Given the description of an element on the screen output the (x, y) to click on. 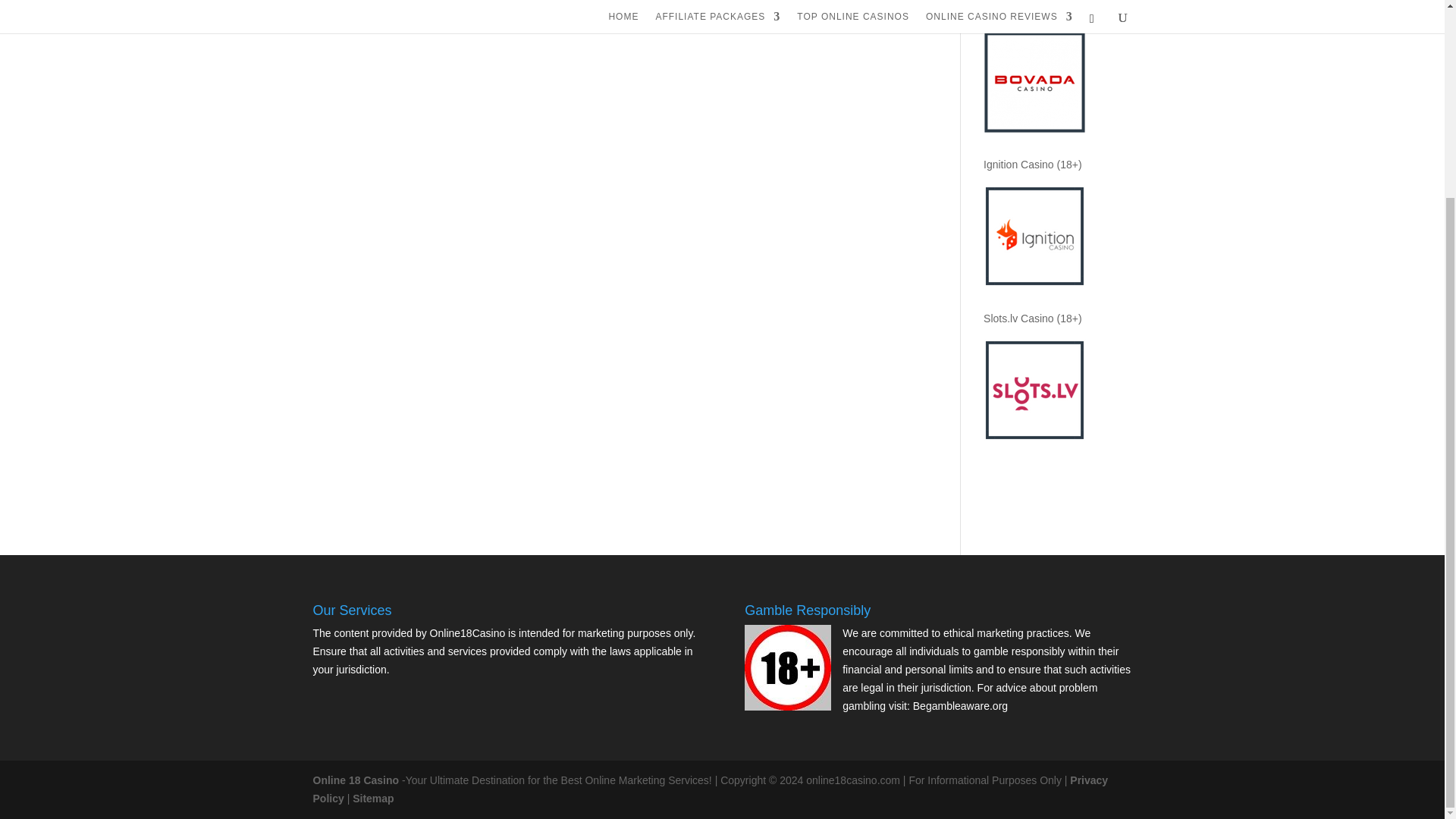
Sitemap (372, 797)
Begambleaware.org (959, 705)
Online 18 Casino (357, 779)
Privacy Policy (710, 788)
